Given the description of an element on the screen output the (x, y) to click on. 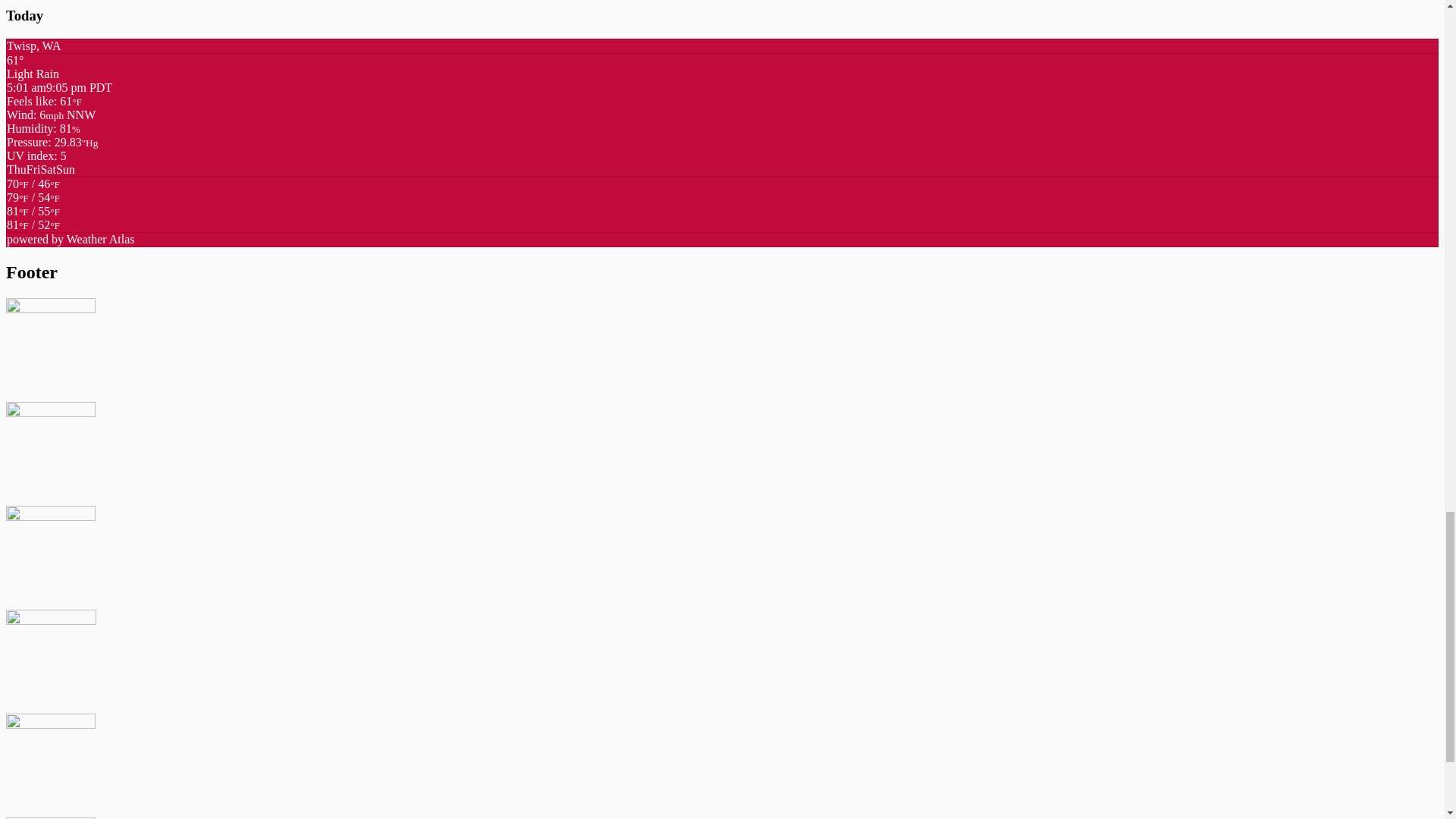
Mostly Cloudy (33, 190)
Partly Cloudy (33, 224)
Mostly Sunny (33, 203)
Cloudy (33, 217)
